Given the description of an element on the screen output the (x, y) to click on. 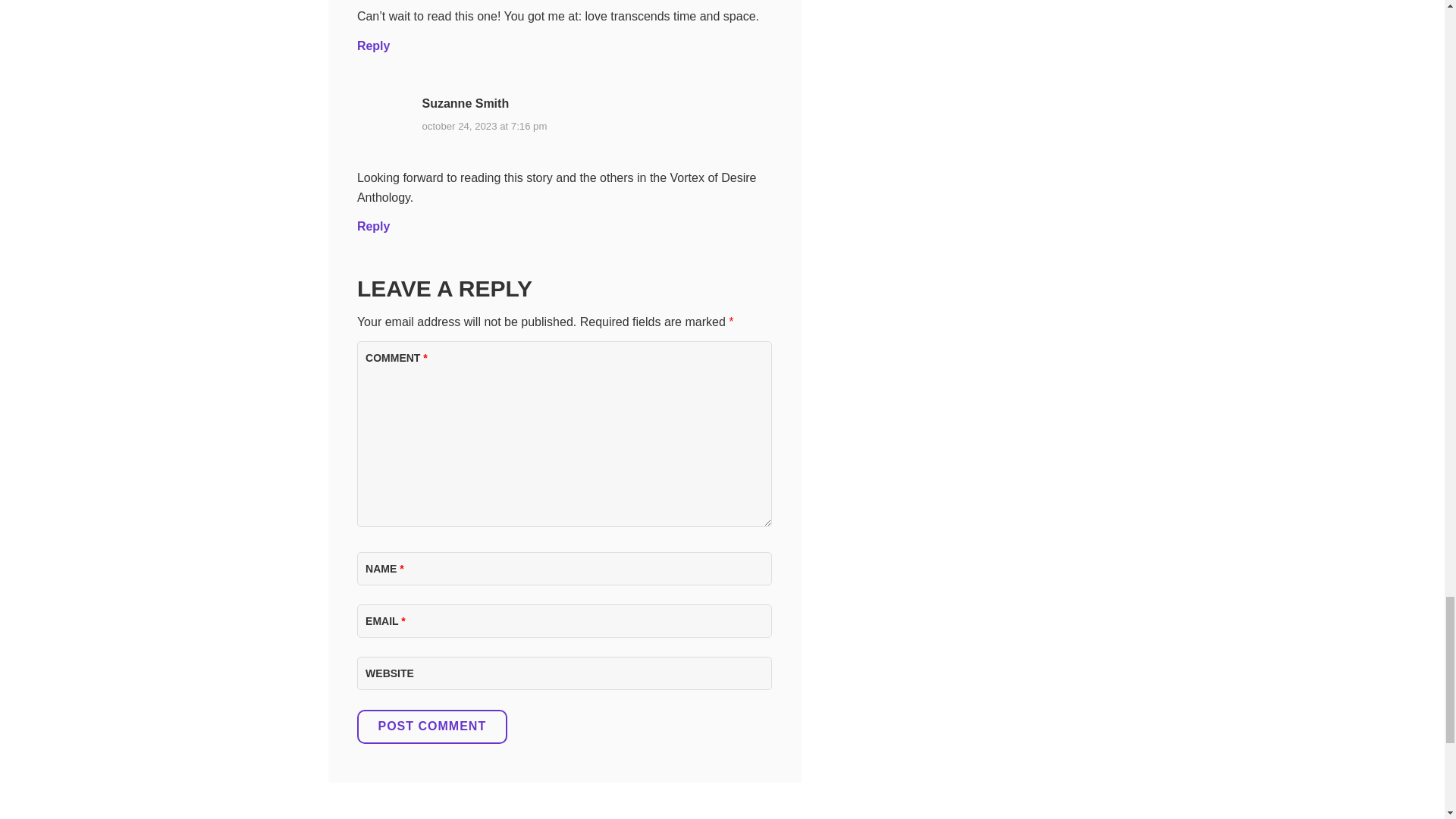
Post Comment (431, 727)
